Given the description of an element on the screen output the (x, y) to click on. 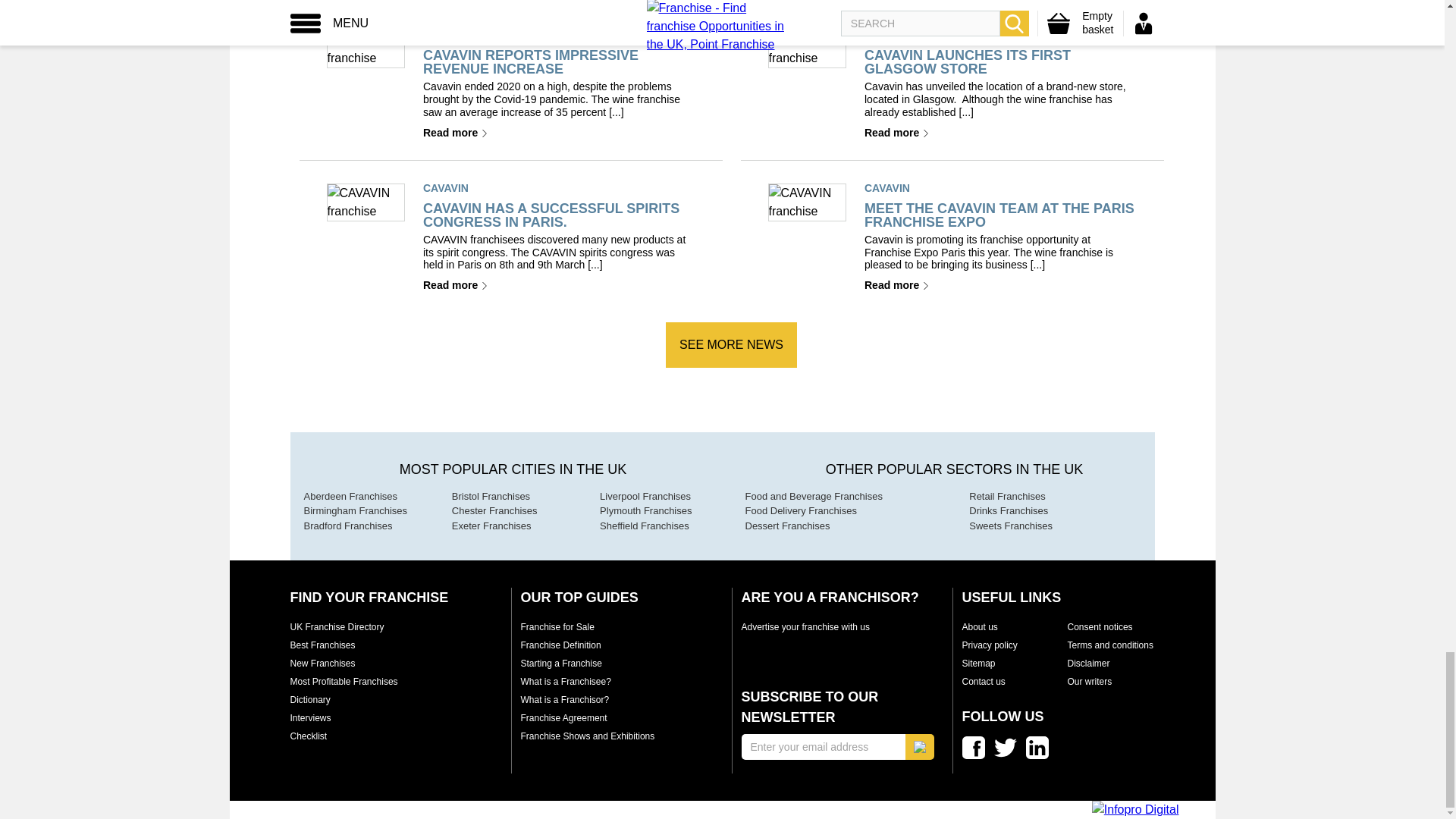
Checklist (307, 736)
Dictionary (309, 699)
Discover UK's best franchises (322, 644)
Interviews (309, 717)
Discover the newest franchises (322, 663)
The full UK franchise directory (336, 626)
Find the most profitable UK franchises (343, 681)
